Given the description of an element on the screen output the (x, y) to click on. 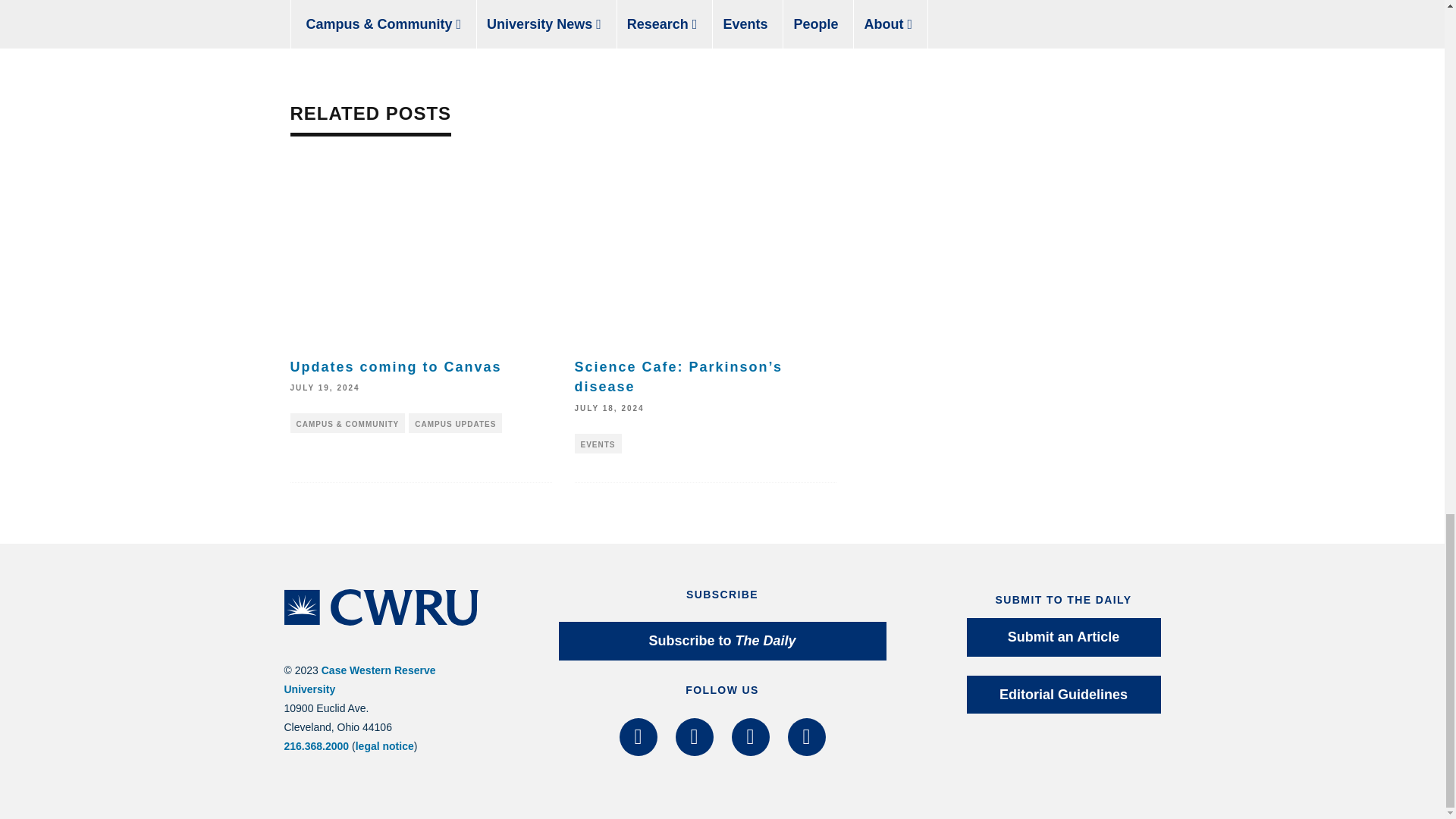
CAMPUS UPDATES (455, 423)
EVENTS (598, 443)
Updates coming to Canvas (394, 366)
